Given the description of an element on the screen output the (x, y) to click on. 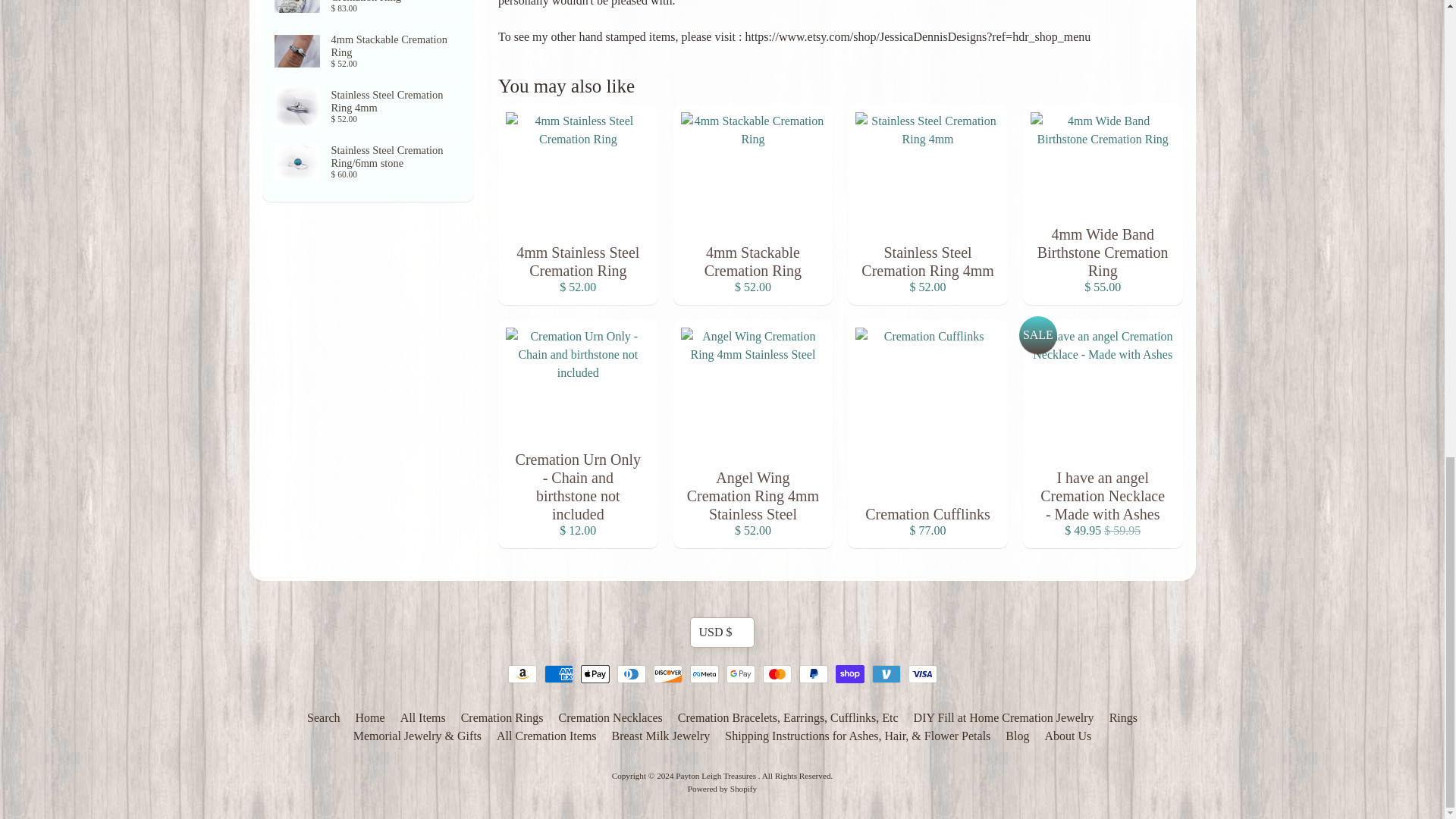
Stainless Steel Cremation Ring 4mm (369, 106)
4mm Stackable Cremation Ring (369, 11)
Sterling Silver 6mm Rope Cremation Ring (369, 51)
Amazon (522, 674)
Diners Club (631, 674)
Google Pay (740, 674)
PayPal (813, 674)
Discover (667, 674)
Apple Pay (595, 674)
Meta Pay (704, 674)
